Given the description of an element on the screen output the (x, y) to click on. 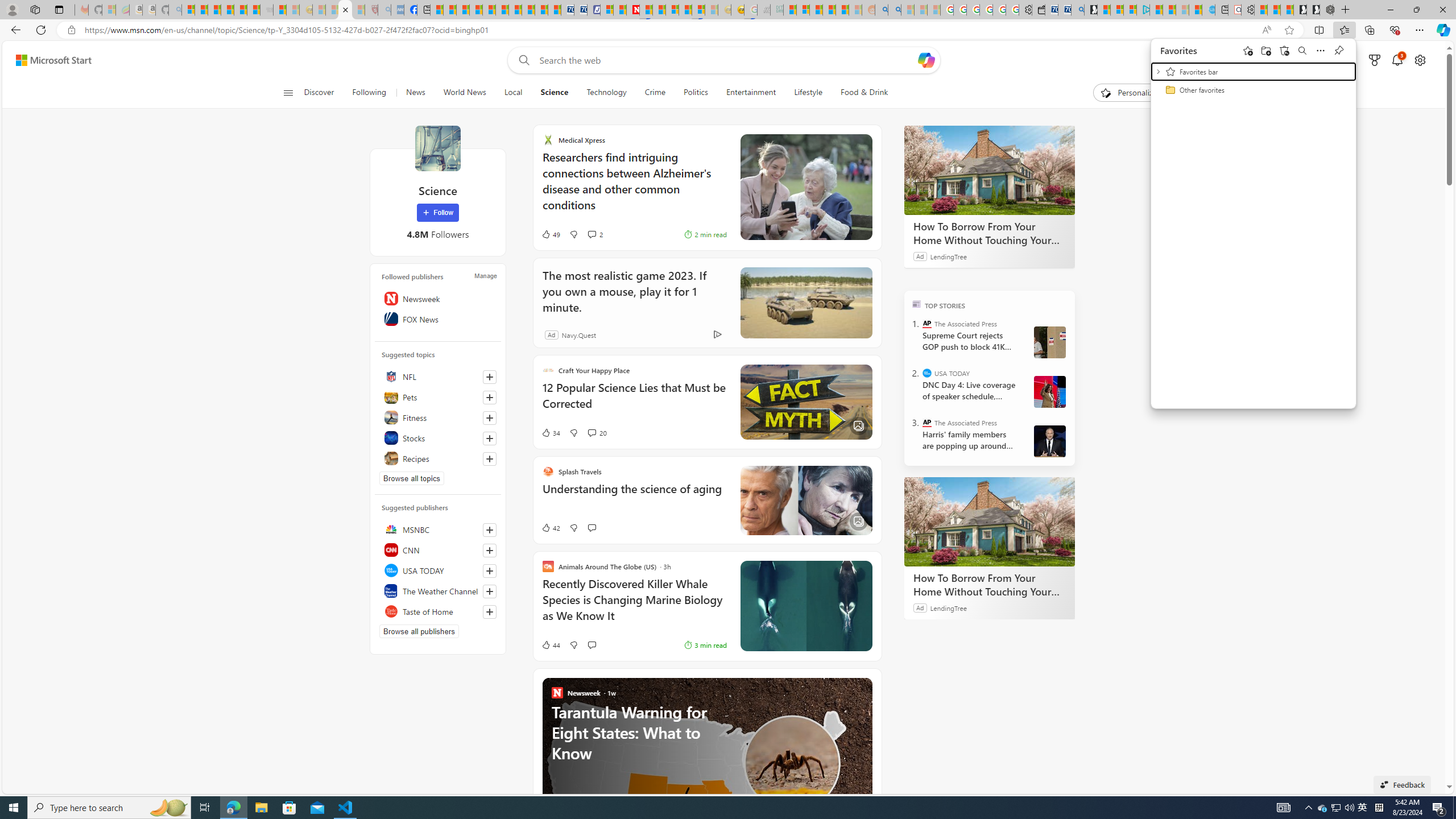
Tray Input Indicator - Chinese (Simplified, China) (1378, 807)
Utah sues federal government - Search (894, 9)
Wallet (1037, 9)
Student Loan Update: Forgiveness Program Ends This Month (842, 9)
Latest Politics News & Archive | Newsweek.com (633, 9)
AutomationID: 4105 (1283, 807)
12 Popular Science Lies that Must be Corrected - Sleeping (357, 9)
Action Center, 2 new notifications (1439, 807)
New Report Confirms 2023 Was Record Hot | Watch (239, 9)
